Given the description of an element on the screen output the (x, y) to click on. 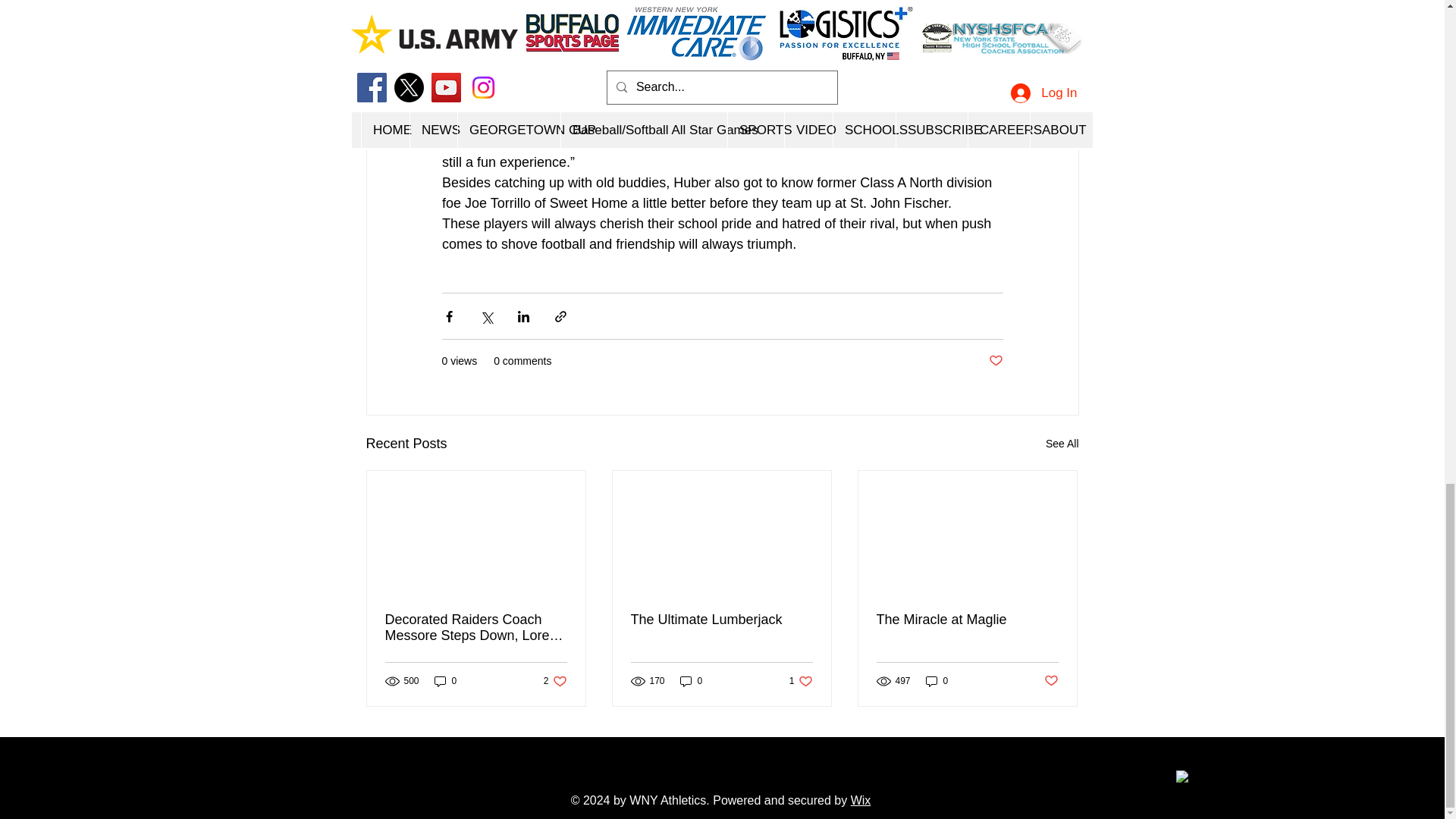
Post not marked as liked (995, 360)
See All (1061, 444)
